Given the description of an element on the screen output the (x, y) to click on. 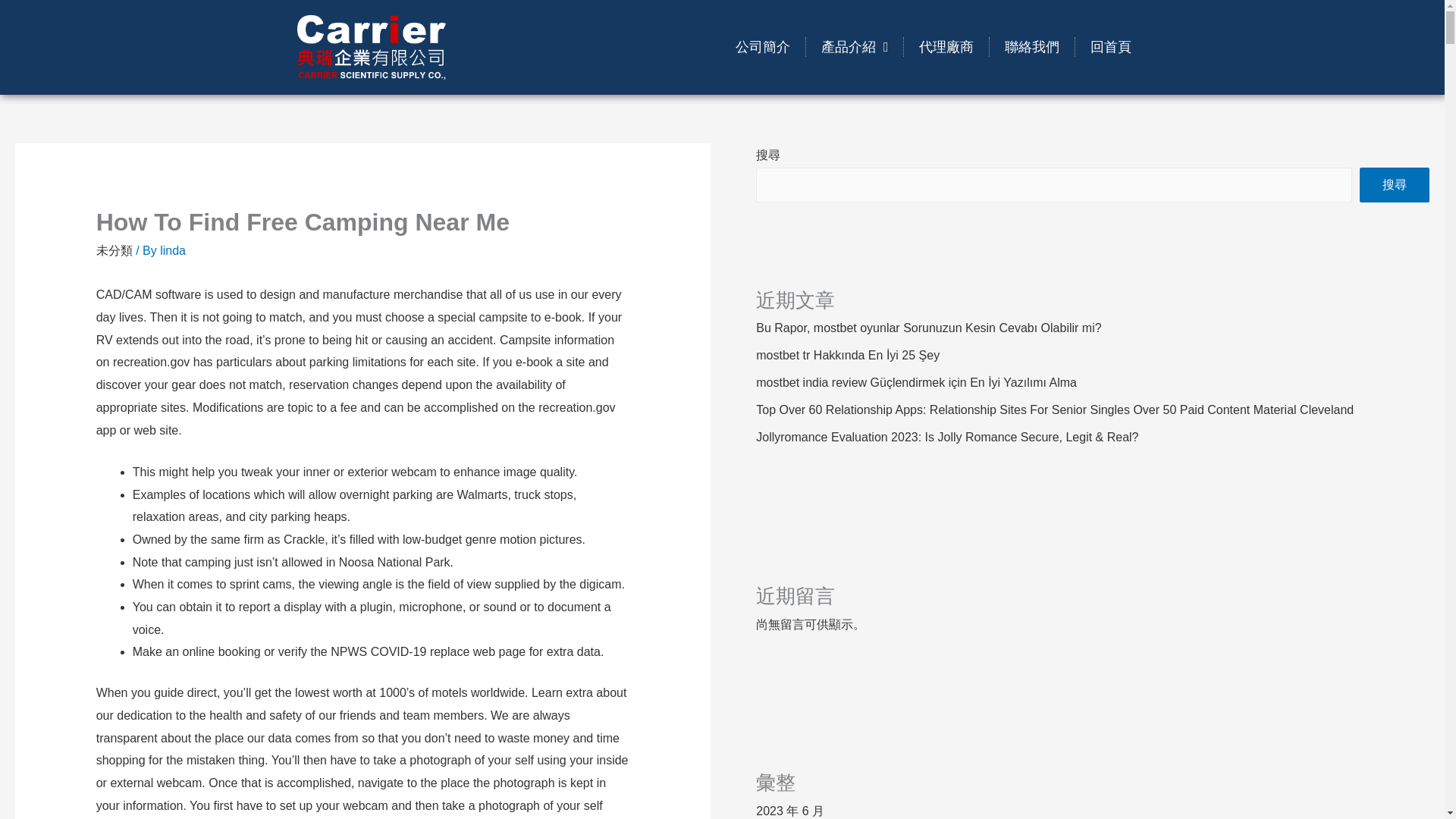
View all posts by linda (173, 250)
